Given the description of an element on the screen output the (x, y) to click on. 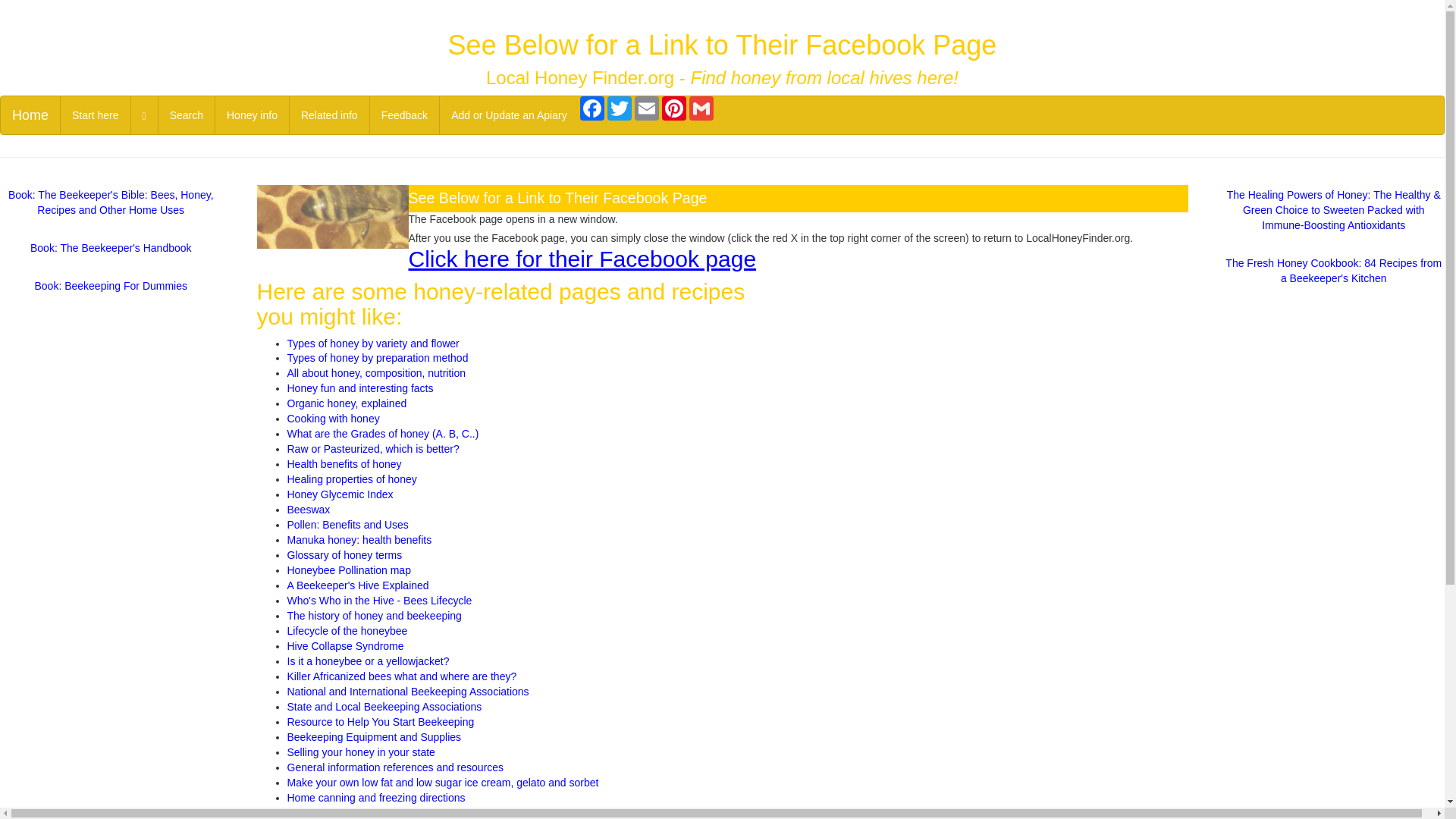
Who's Who in the Hive - Bees Lifecycle (378, 600)
Cooking with honey (332, 418)
Honey fun and interesting facts (359, 387)
Email (647, 108)
Glossary of honey terms (343, 554)
Related info (328, 115)
A Beekeeper's Hive Explained (357, 585)
Healing properties of honey (351, 479)
Honey Glycemic Index (339, 494)
Honeybee Pollination map (348, 570)
Add or Update an Apiary (508, 115)
Manuka honey: health benefits (358, 539)
Beeswax (308, 509)
Facebook (591, 108)
Gmail (700, 108)
